Given the description of an element on the screen output the (x, y) to click on. 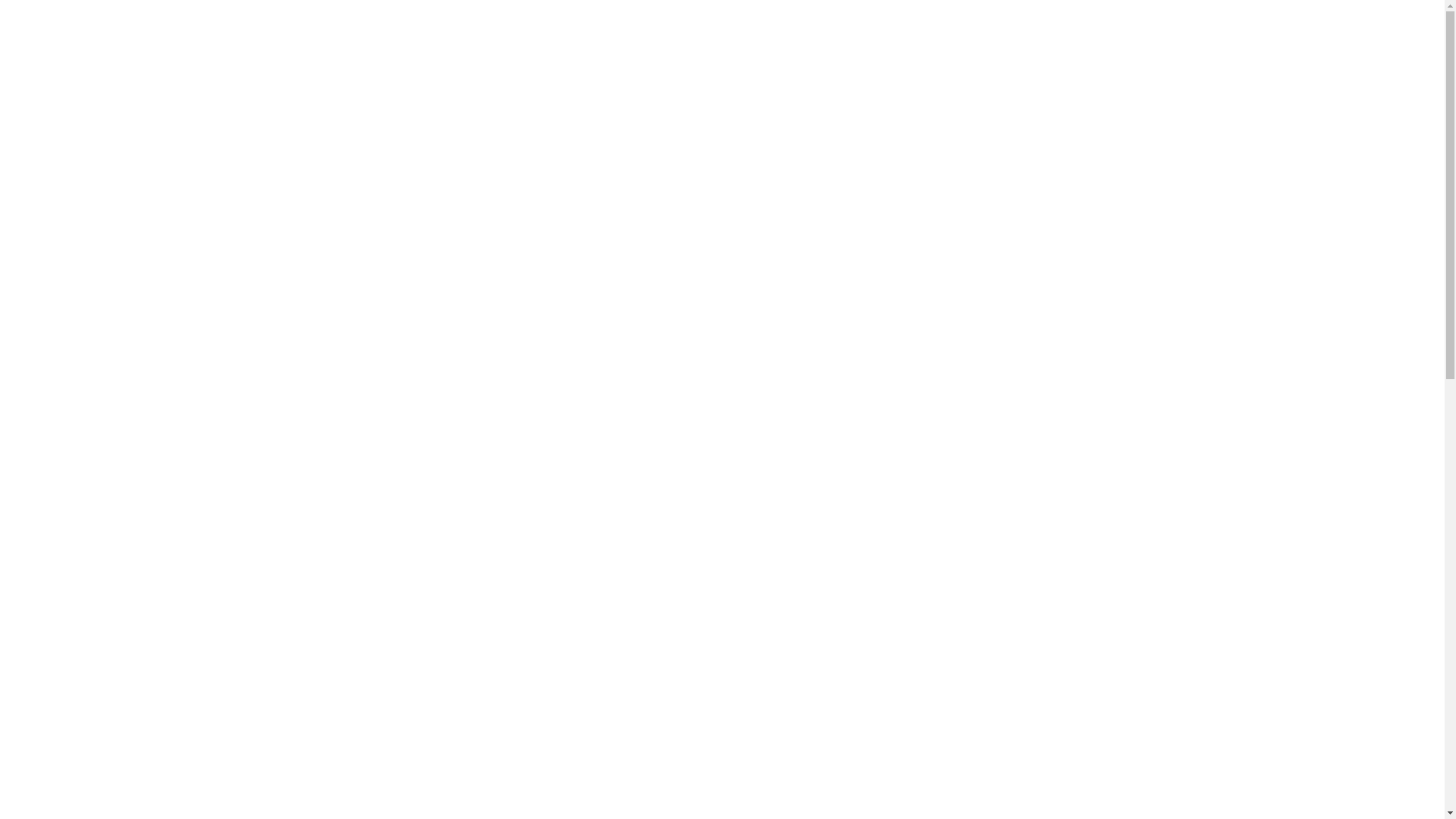
058 23 94 65 Element type: text (922, 72)
TEAM Element type: text (644, 72)
CONTACT Element type: text (838, 72)
BLOG Element type: text (774, 72)
hier Element type: text (721, 527)
AXFIN Element type: text (589, 72)
DIENSTEN Element type: text (709, 72)
INFO@AXFIN.BE Element type: text (1019, 72)
TERUG NAAR OVERZICHT Element type: text (556, 638)
CONTACTEER ONS Element type: text (1365, 409)
